Given the description of an element on the screen output the (x, y) to click on. 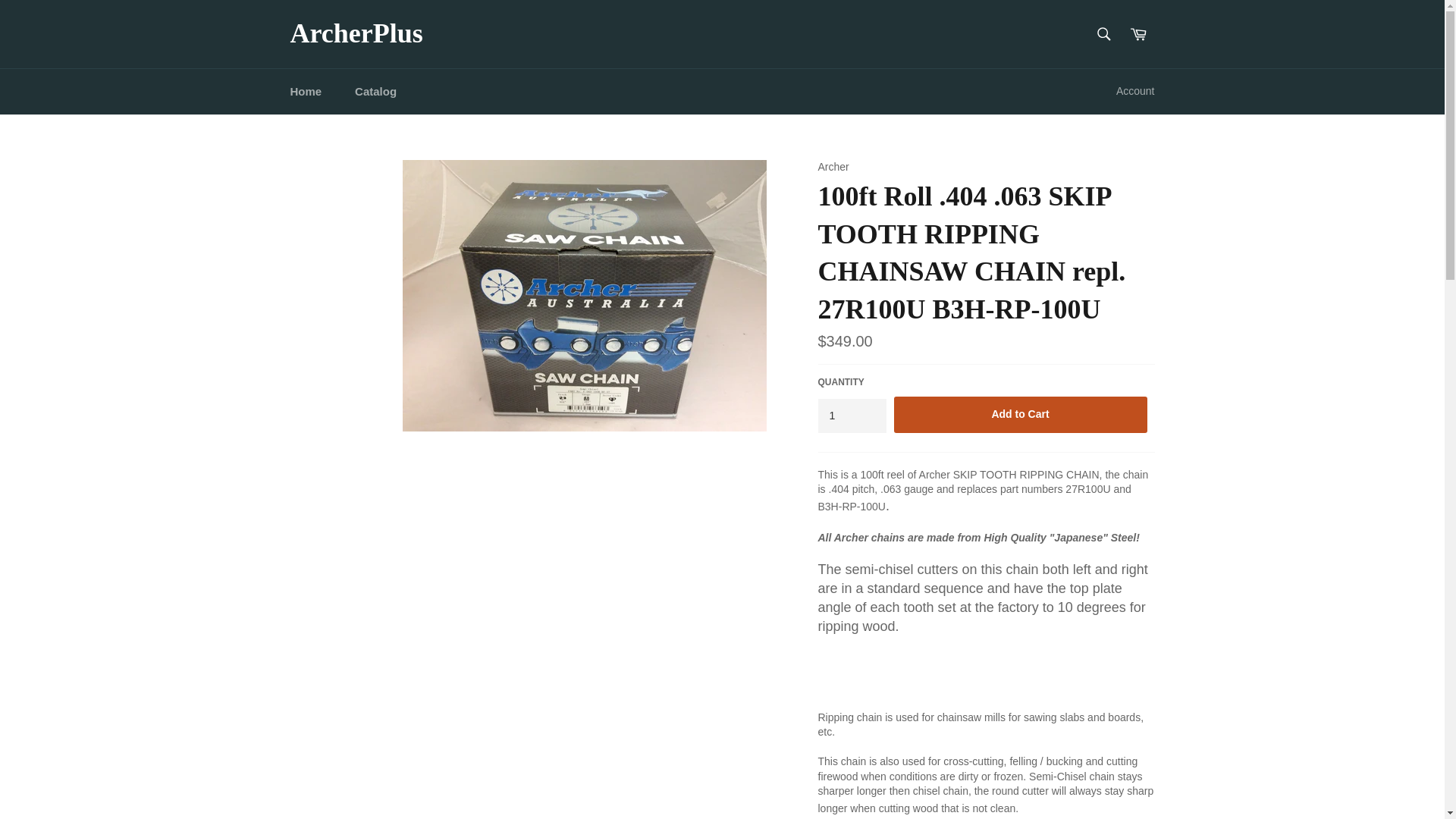
Search (1102, 33)
Account (1134, 90)
Add to Cart (1020, 414)
ArcherPlus (355, 34)
1 (850, 415)
Home (305, 90)
Catalog (375, 90)
Cart (1138, 33)
